Given the description of an element on the screen output the (x, y) to click on. 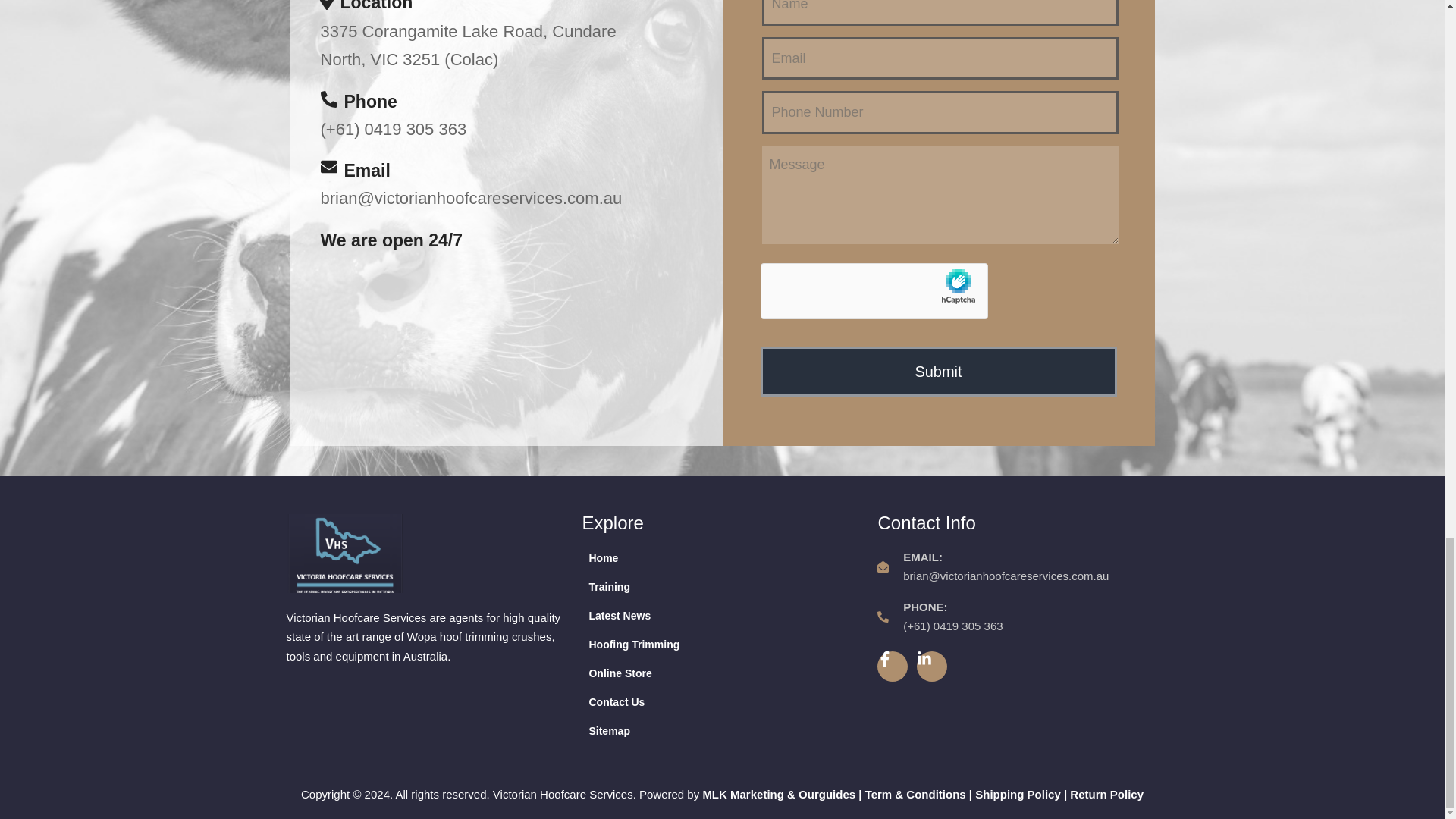
Submit (938, 371)
